Given the description of an element on the screen output the (x, y) to click on. 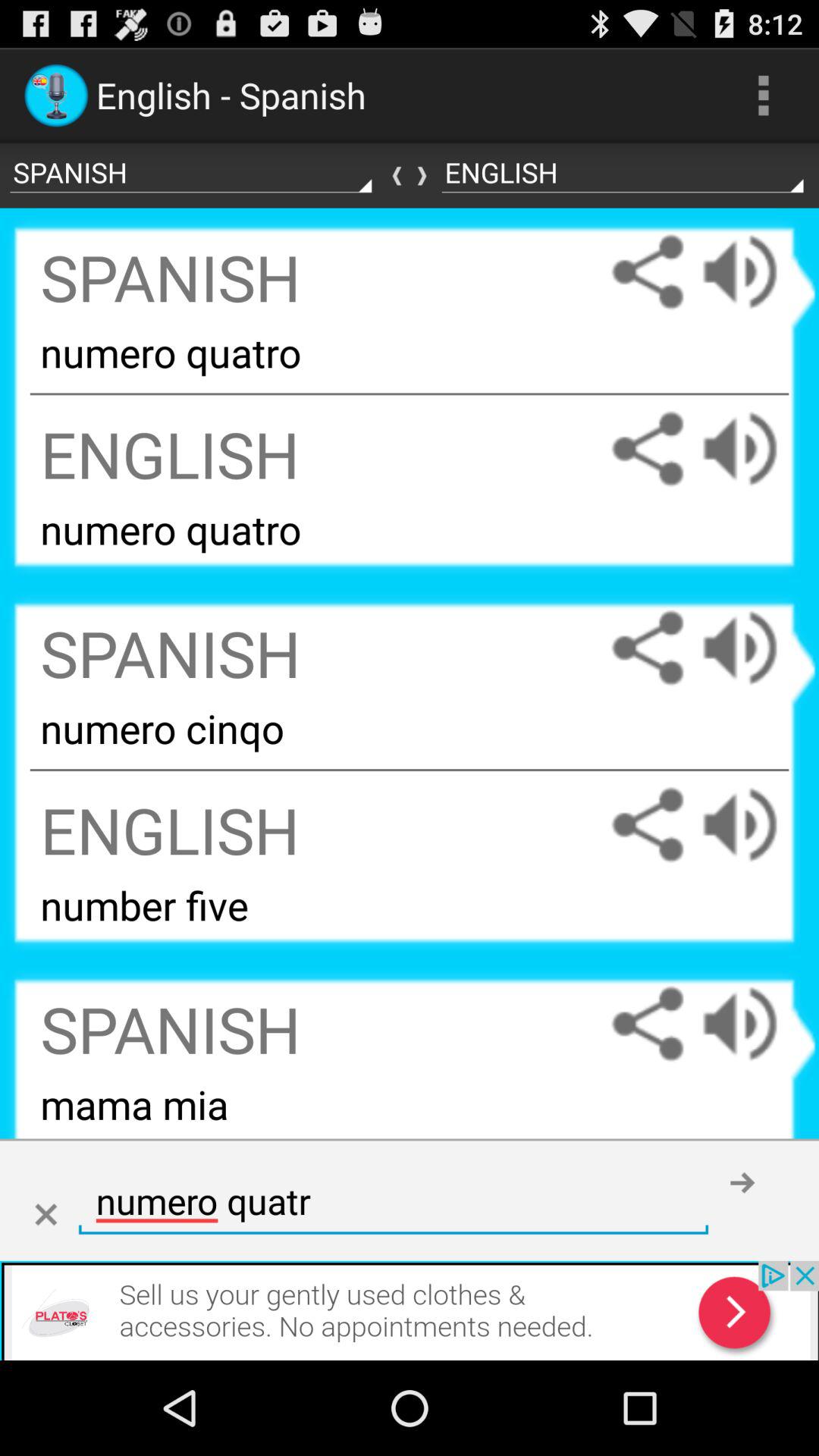
hear the word (754, 824)
